Given the description of an element on the screen output the (x, y) to click on. 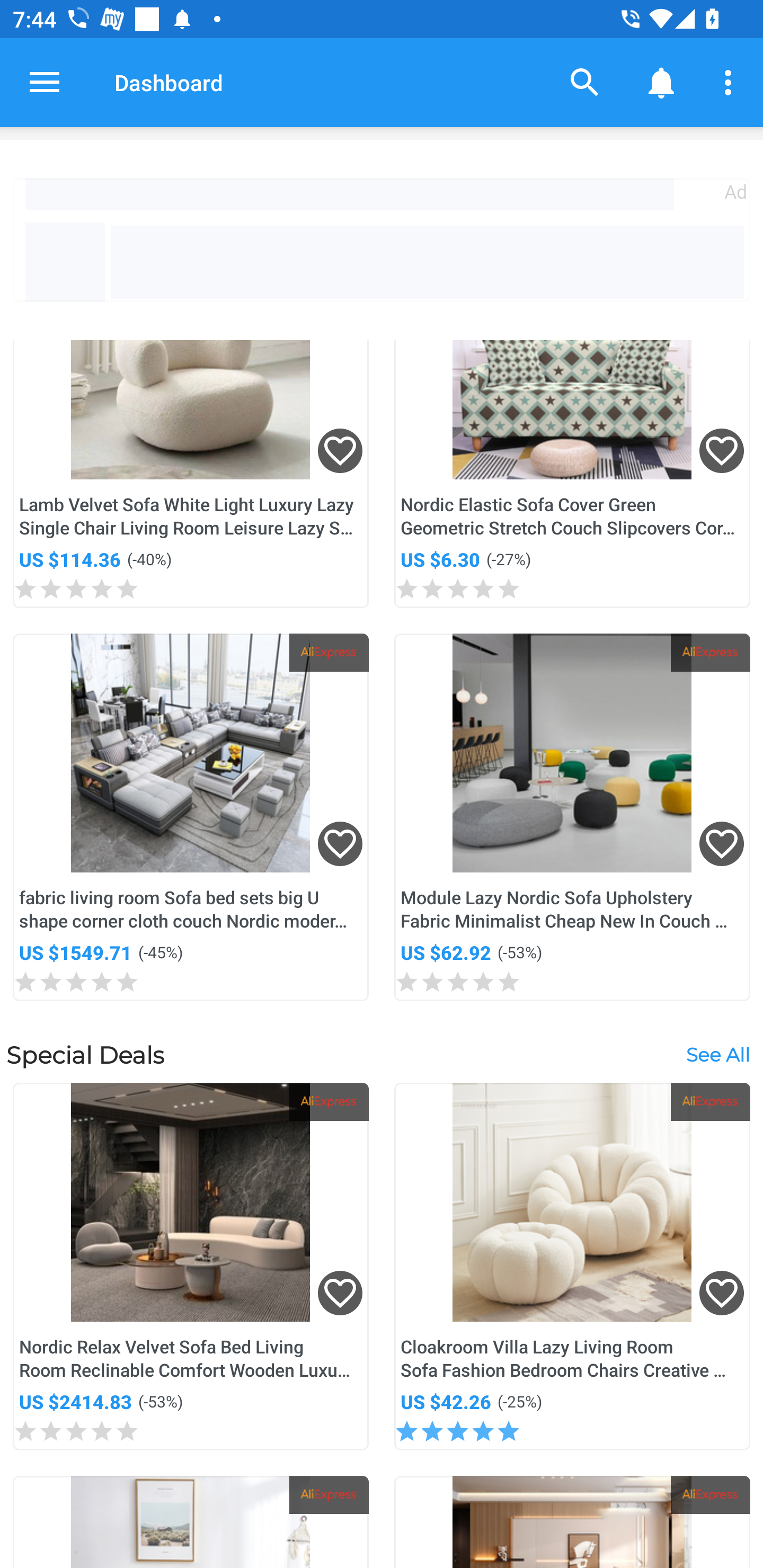
Open navigation drawer (44, 82)
Search (585, 81)
More options (731, 81)
See All (717, 1054)
